Given the description of an element on the screen output the (x, y) to click on. 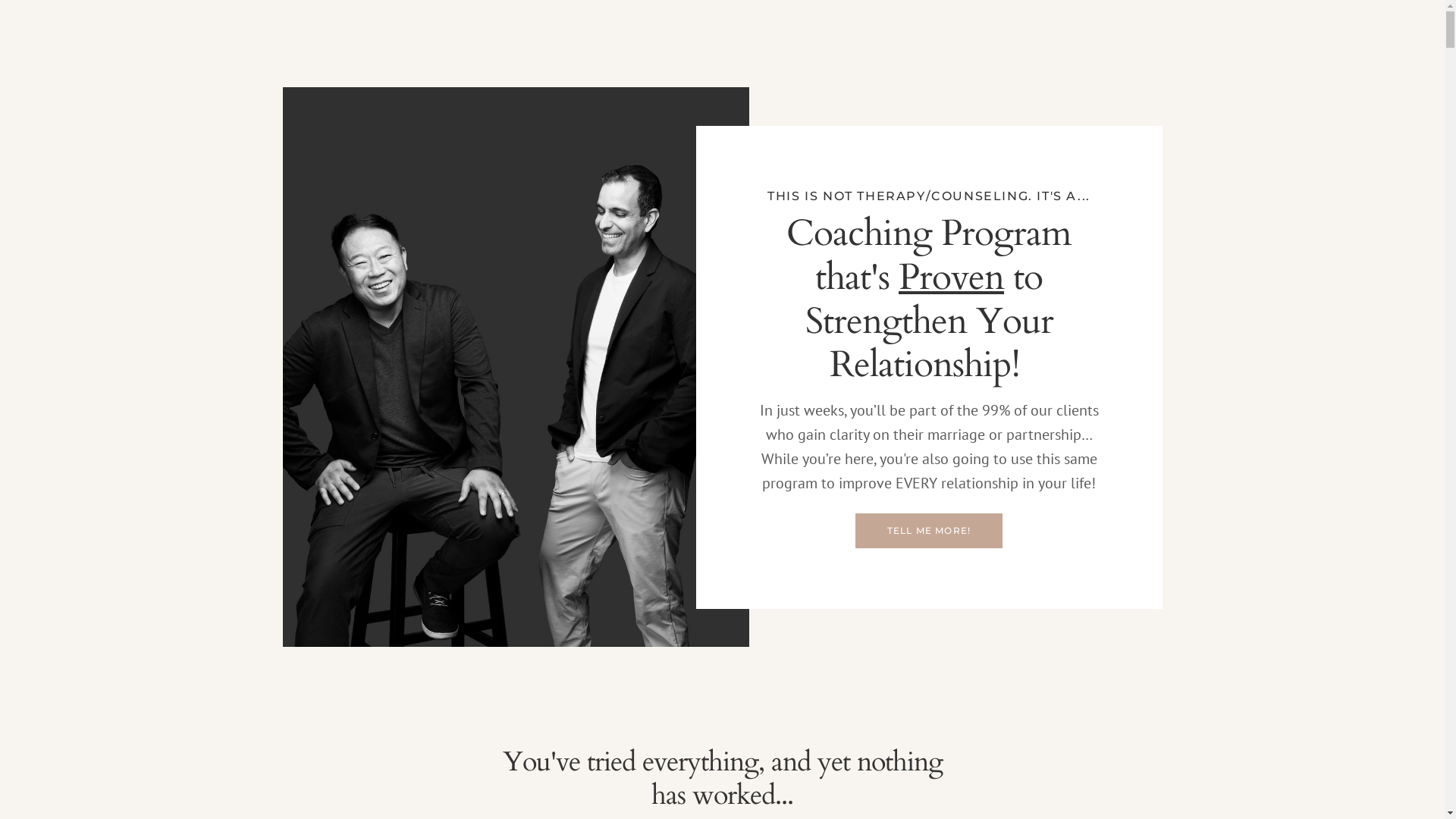
TELL ME MORE! Element type: text (929, 530)
